Given the description of an element on the screen output the (x, y) to click on. 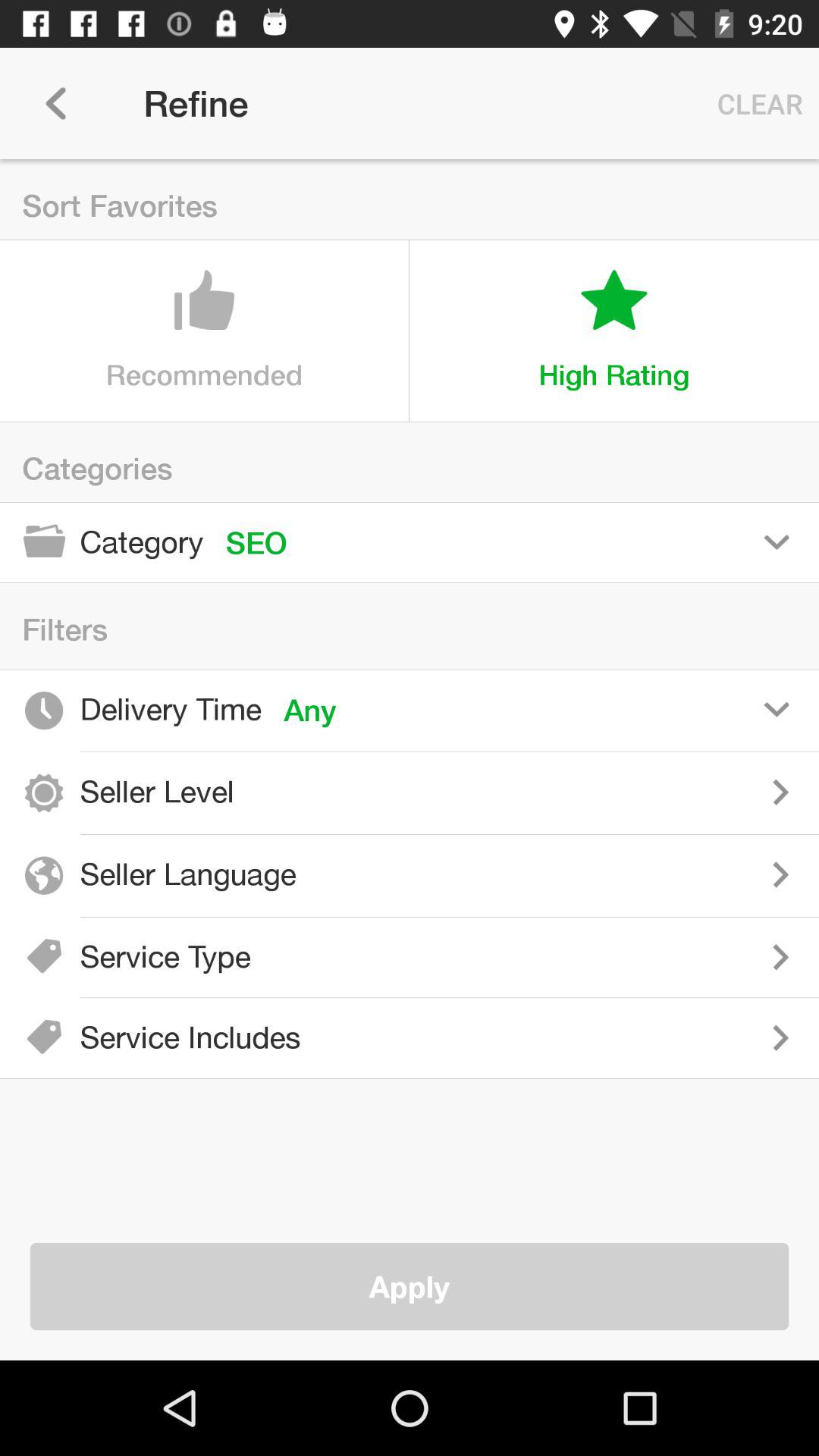
seller language (568, 874)
